Given the description of an element on the screen output the (x, y) to click on. 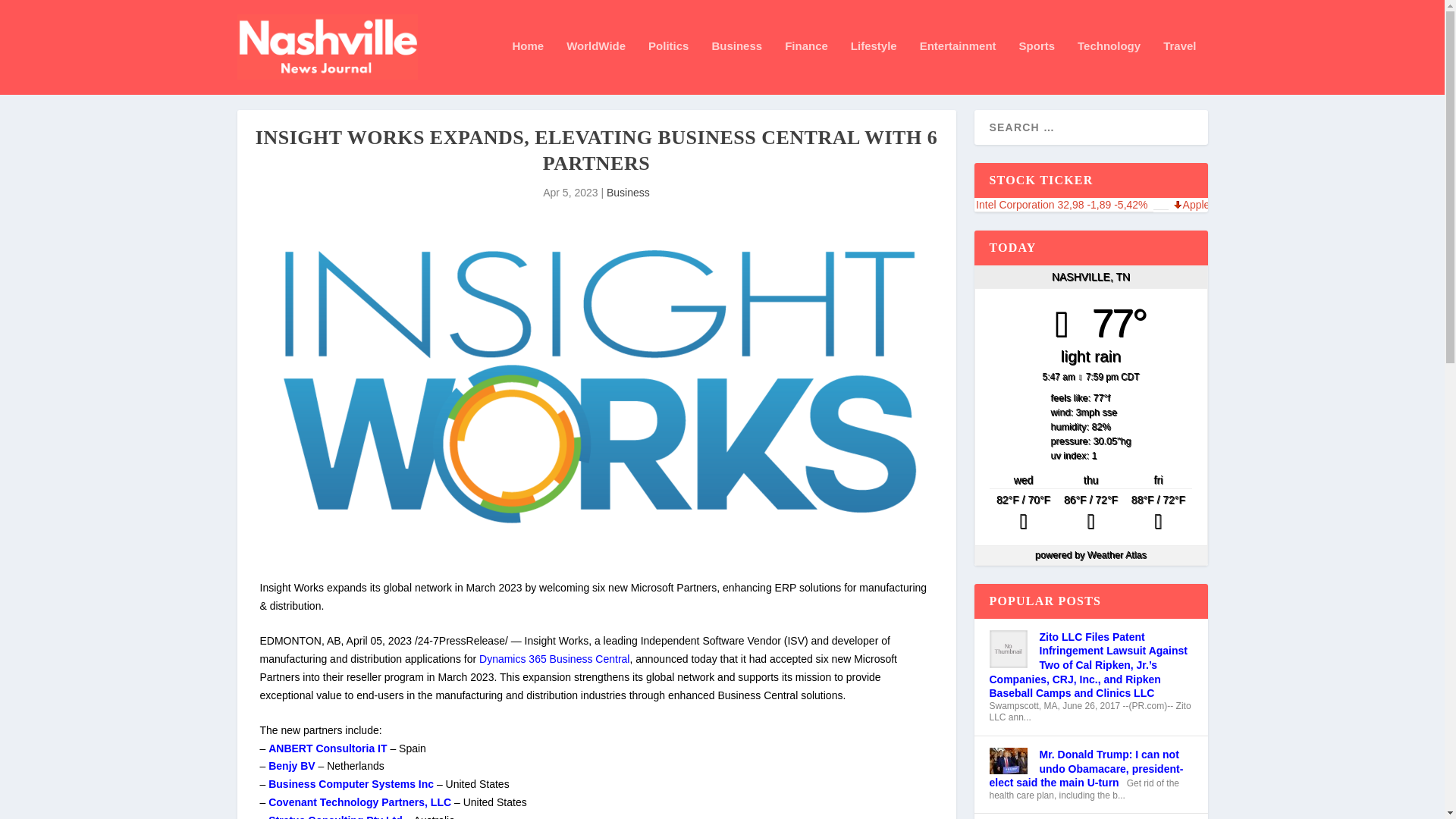
Few Showers (1158, 513)
WorldWide (596, 67)
Politics (667, 67)
Home (527, 67)
Lifestyle (873, 67)
Travel (1179, 67)
Stratus Consulting Pty Ltd (335, 816)
Technology (1108, 67)
Business Computer Systems Inc (350, 784)
Sports (1037, 67)
AM Showers (1090, 513)
Finance (806, 67)
ANBERT Consultoria IT (327, 748)
Business (736, 67)
Showers (1023, 513)
